Given the description of an element on the screen output the (x, y) to click on. 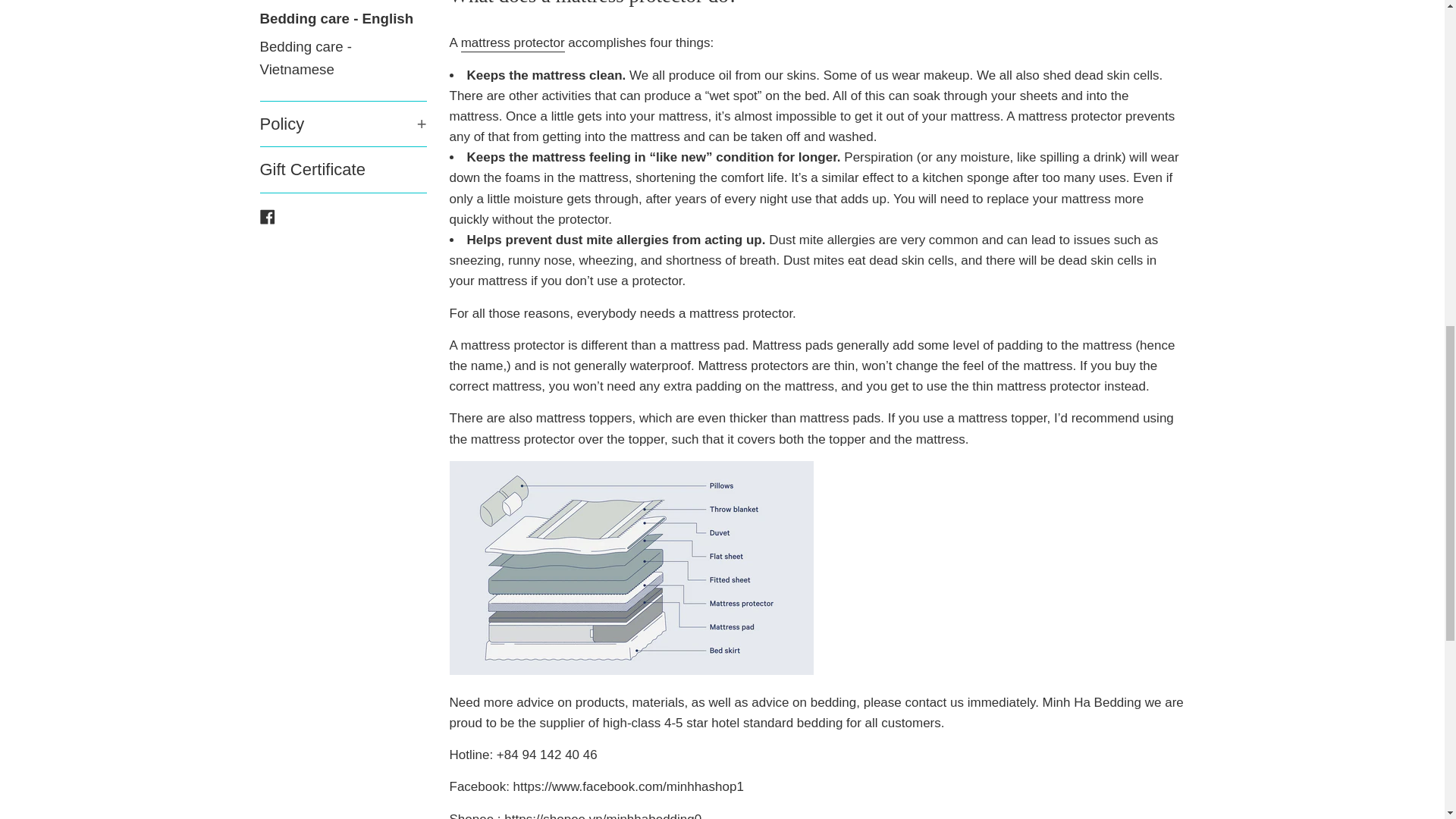
Minh Ha Bedding on Facebook (267, 216)
Bedding care - English (342, 2)
Bedding care - Vietnamese (342, 18)
